Given the description of an element on the screen output the (x, y) to click on. 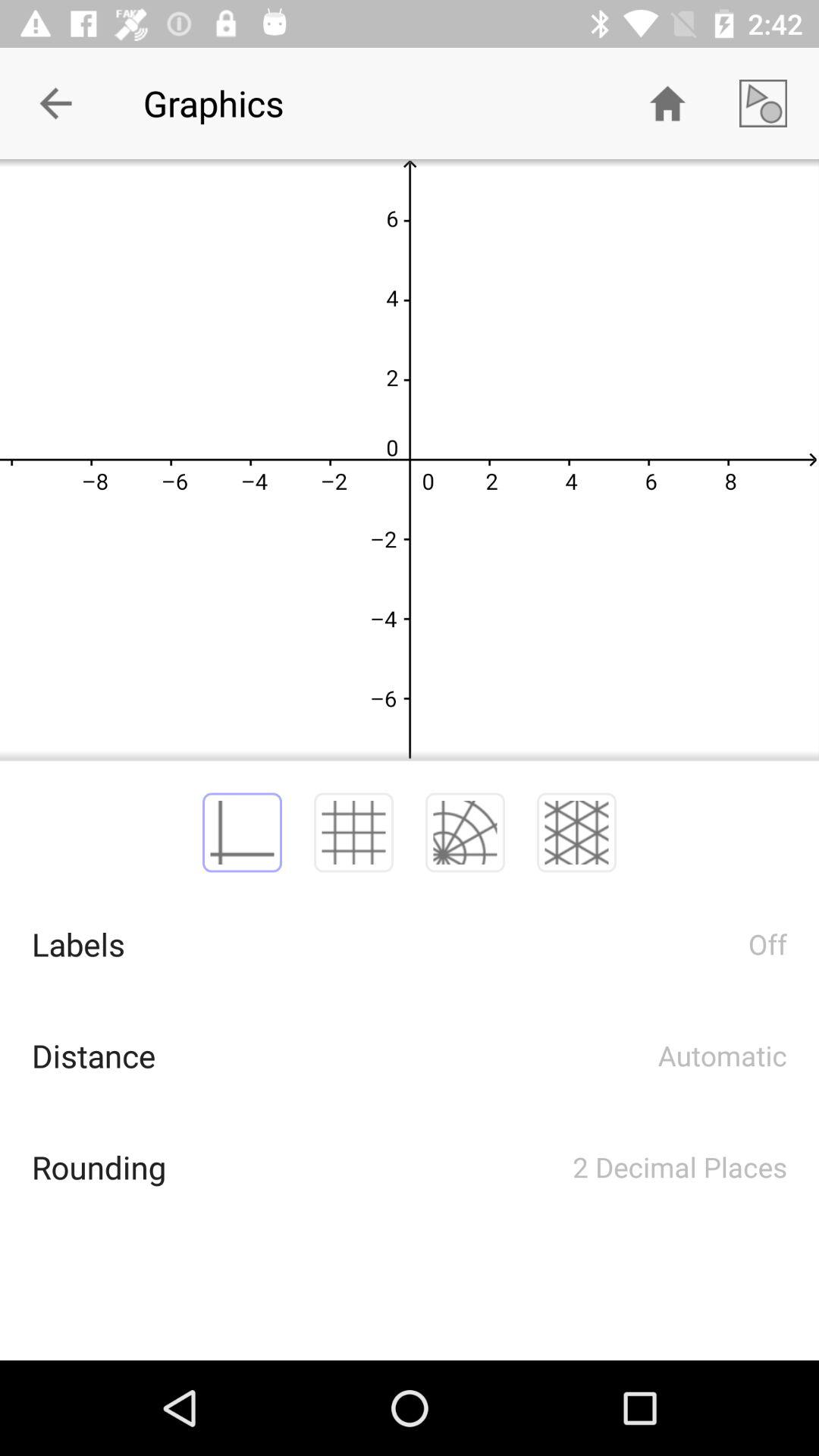
press item to the left of graphics (55, 103)
